Given the description of an element on the screen output the (x, y) to click on. 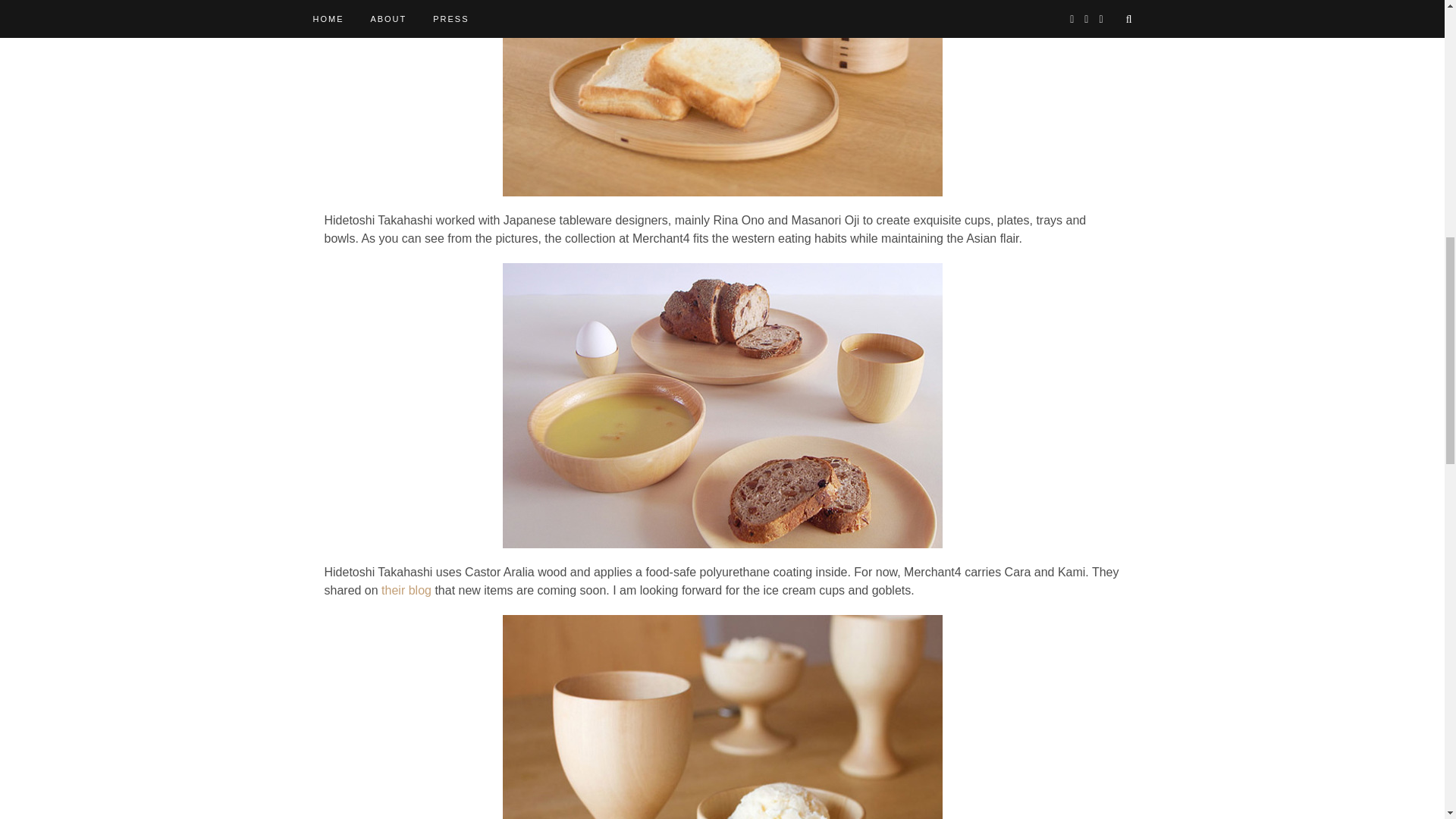
their blog (405, 590)
